Given the description of an element on the screen output the (x, y) to click on. 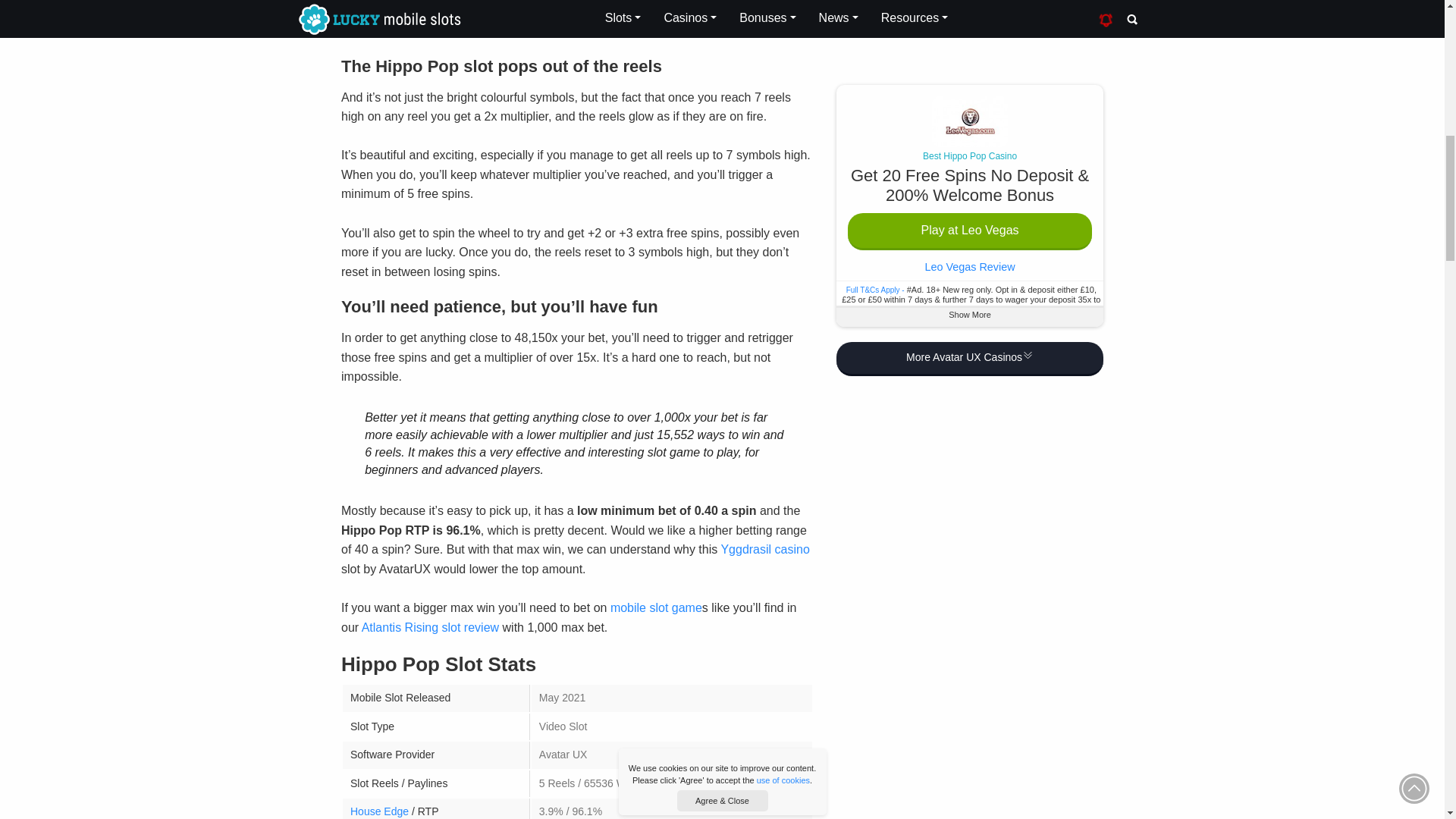
Learn about slots house edge (379, 811)
